Given the description of an element on the screen output the (x, y) to click on. 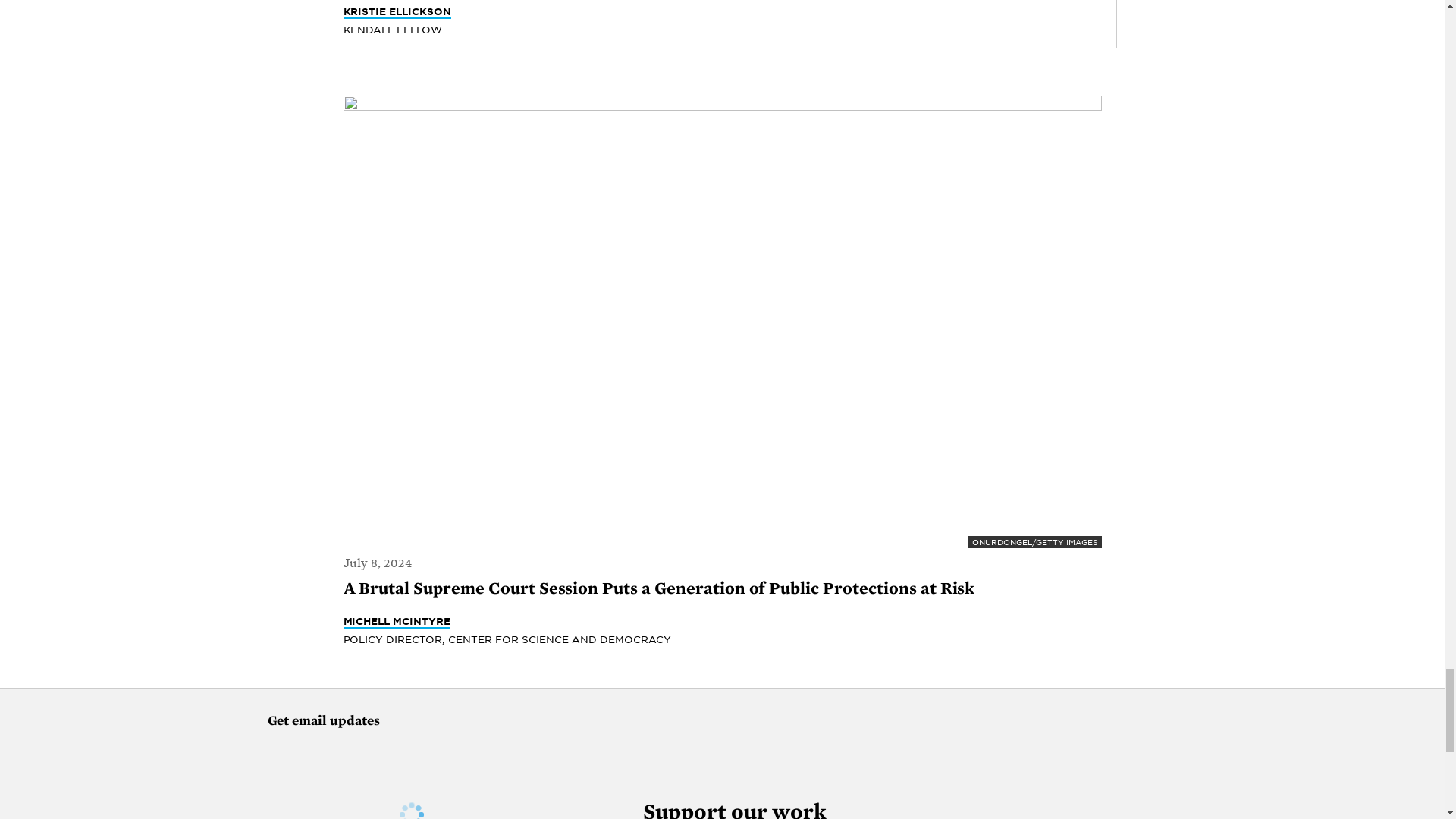
KRISTIE ELLICKSON (396, 11)
MICHELL MCINTYRE (395, 621)
